Given the description of an element on the screen output the (x, y) to click on. 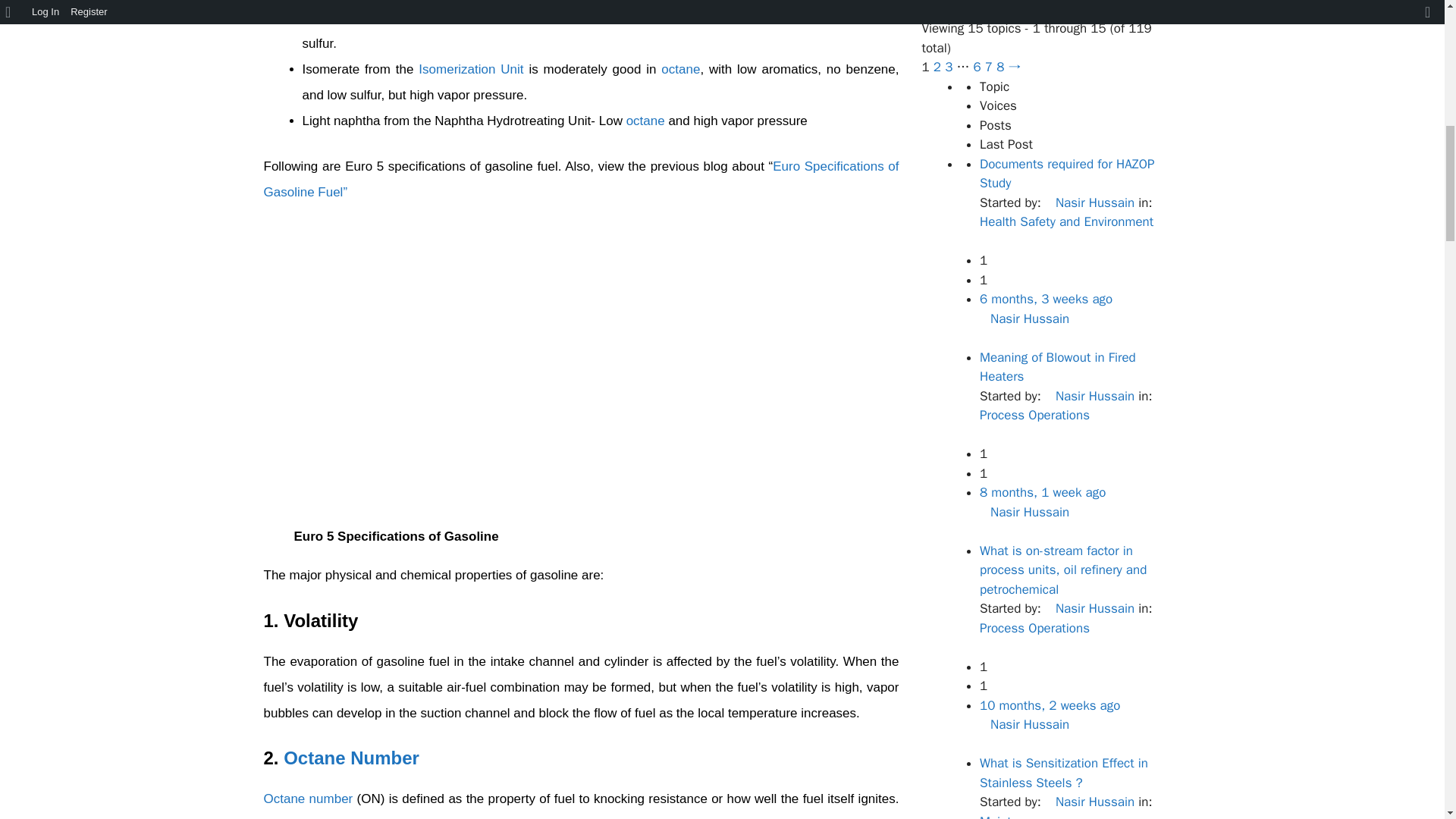
View Nasir Hussain's profile (1089, 608)
Meaning of Blowout in Fired Heaters (1042, 492)
Documents required for HAZOP Study (1045, 299)
View Nasir Hussain's profile (1023, 318)
View Nasir Hussain's profile (1089, 201)
View Nasir Hussain's profile (1089, 396)
View Nasir Hussain's profile (1023, 511)
View Nasir Hussain's profile (1023, 724)
